Given the description of an element on the screen output the (x, y) to click on. 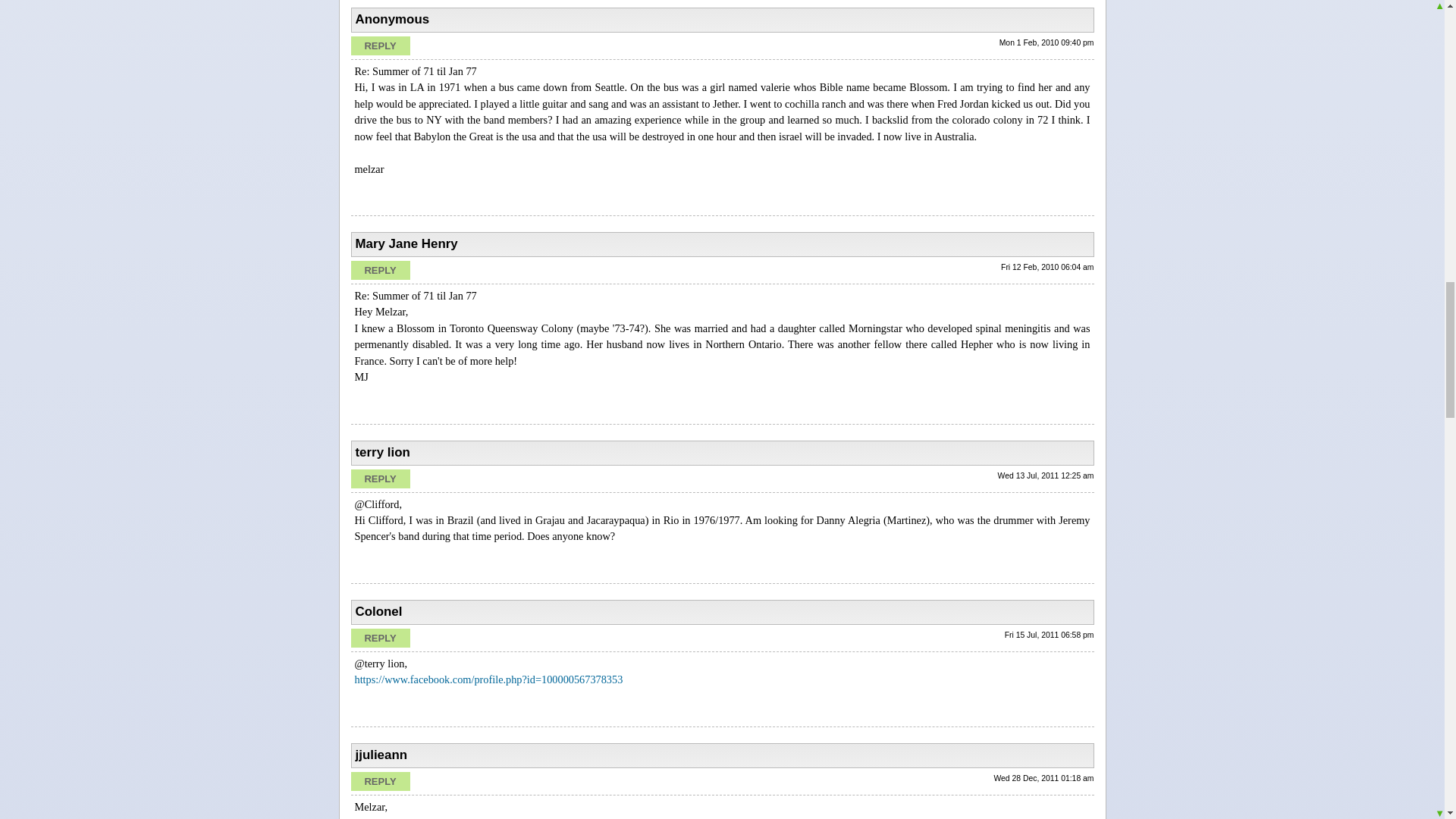
REPLY (379, 781)
REPLY (379, 637)
REPLY (379, 478)
REPLY (379, 270)
REPLY (379, 45)
